Given the description of an element on the screen output the (x, y) to click on. 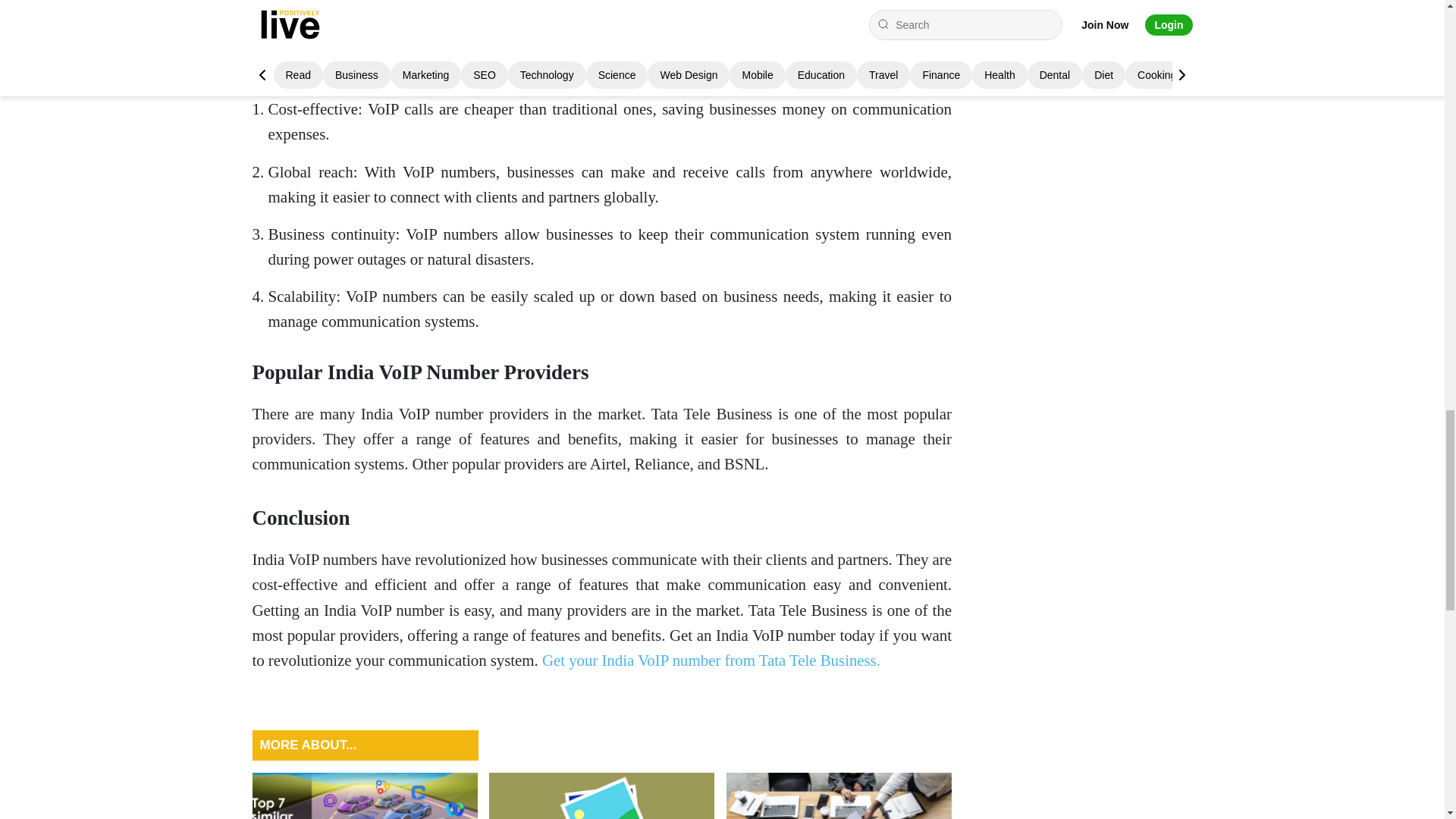
Top 7 Similar Apps Like Slack That You Can Easily Rely On (364, 796)
The Best 3 PNG to DDS Conversion Tools (601, 796)
Web Development (839, 796)
Apps Like Slack (364, 796)
What to Expect From a Custom Web Development Company (839, 796)
Conversion Tools (601, 796)
